Given the description of an element on the screen output the (x, y) to click on. 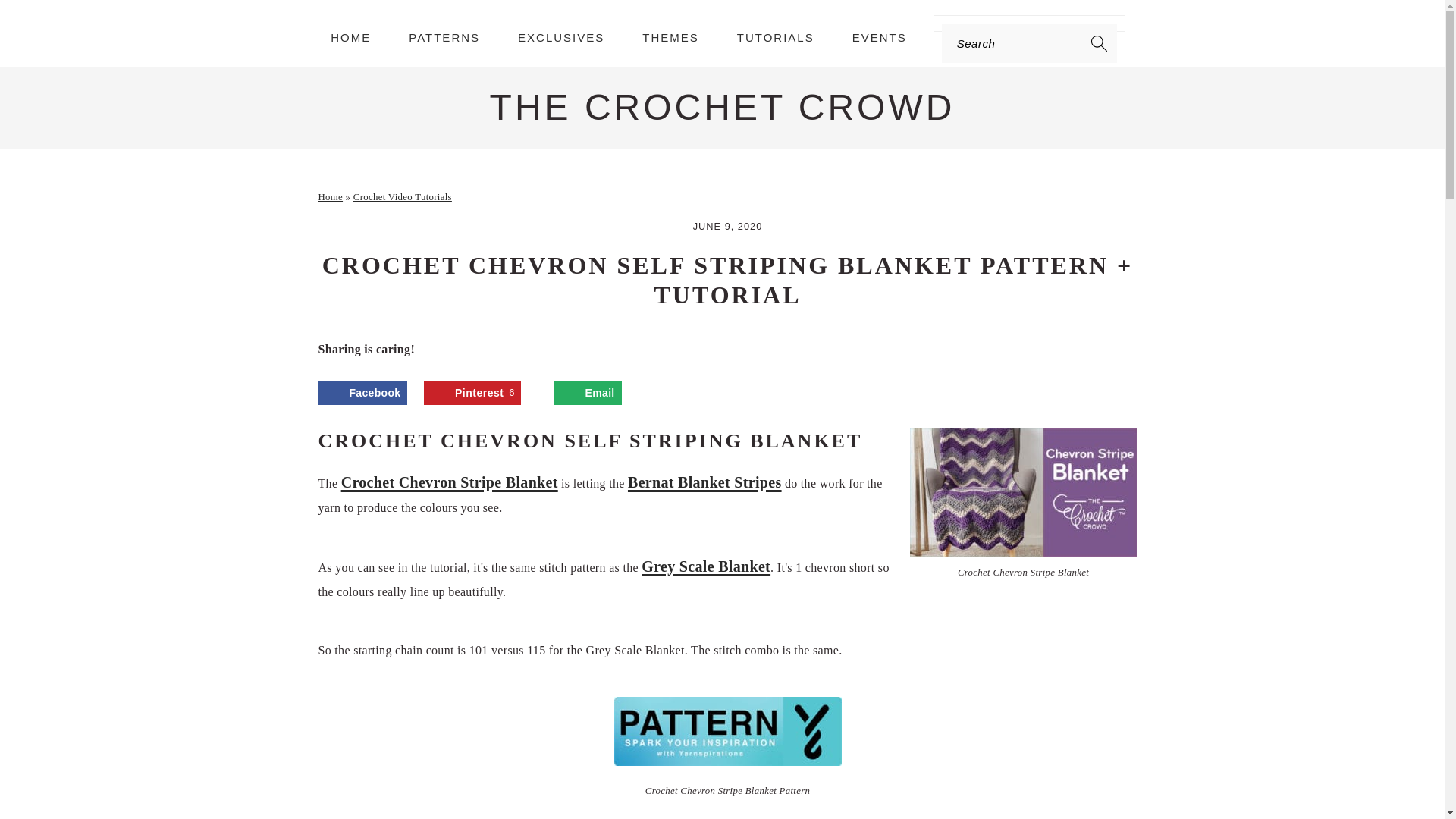
Email (587, 392)
Home (330, 196)
Send over email (587, 392)
Facebook (362, 392)
Bernat Blanket Stripes (704, 482)
Grey Scale Blanket (706, 565)
TUTORIALS (774, 37)
Crochet Video Tutorials (402, 196)
Search (275, 19)
